Given the description of an element on the screen output the (x, y) to click on. 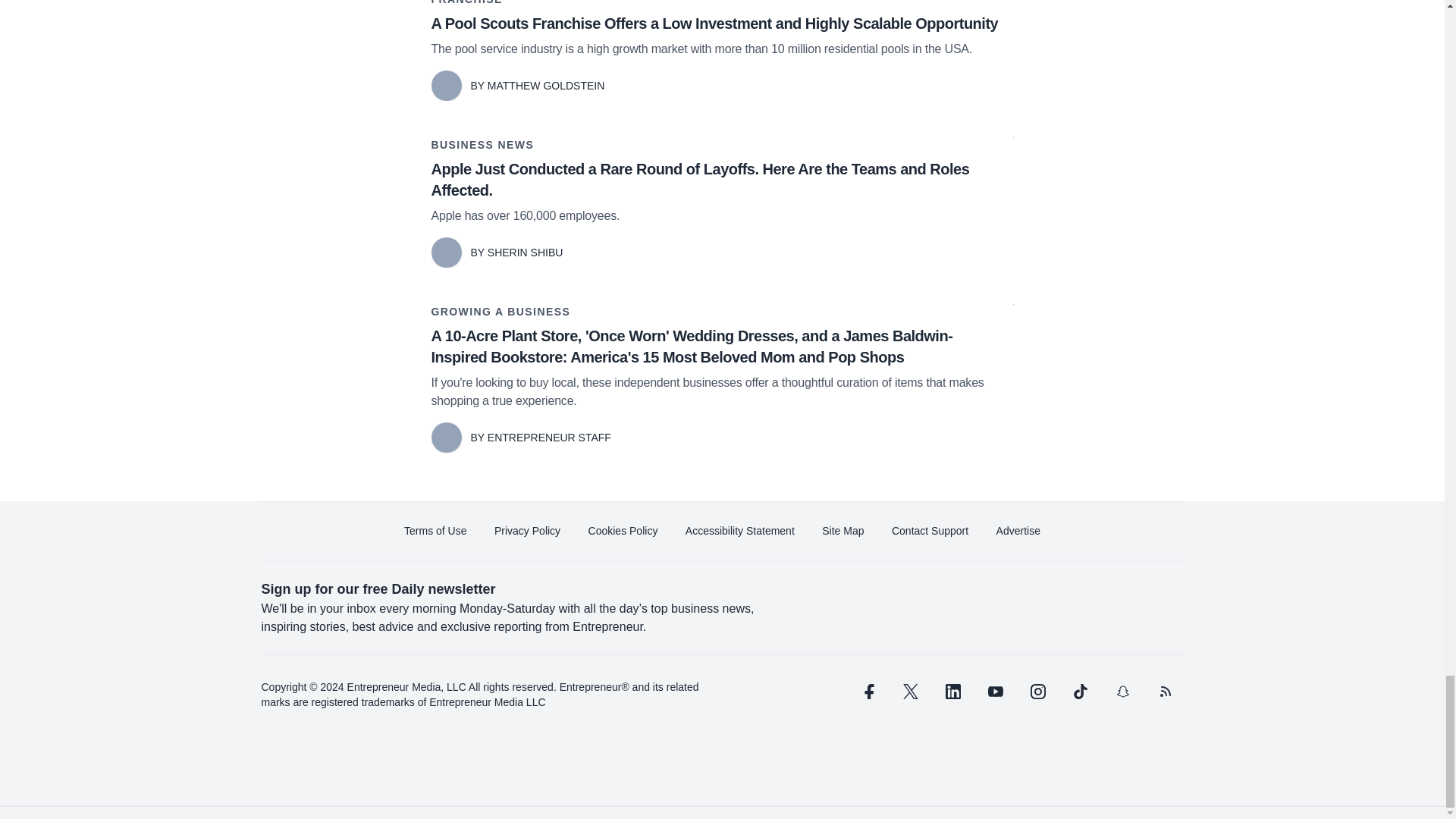
tiktok (1079, 691)
snapchat (1121, 691)
linkedin (952, 691)
twitter (909, 691)
facebook (866, 691)
youtube (994, 691)
rss (1164, 691)
instagram (1037, 691)
